Given the description of an element on the screen output the (x, y) to click on. 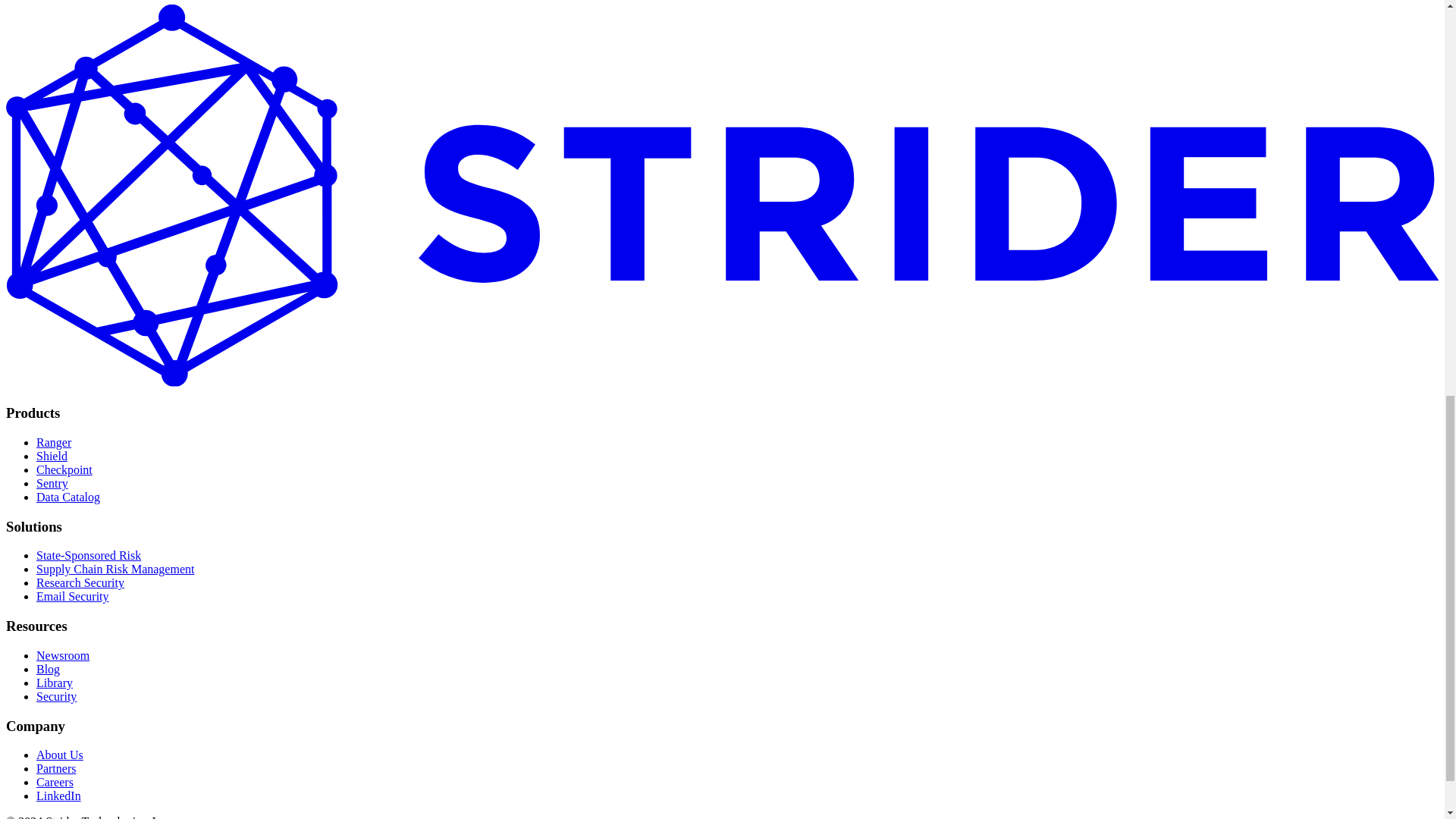
Library (54, 682)
Ranger (53, 441)
Careers (55, 781)
Checkpoint (64, 469)
About Us (59, 754)
State-Sponsored Risk (88, 554)
Data Catalog (68, 496)
Partners (55, 768)
Blog (47, 668)
LinkedIn (58, 795)
Shield (51, 455)
Research Security (79, 582)
Security (56, 696)
Newsroom (62, 655)
Email Security (72, 595)
